Given the description of an element on the screen output the (x, y) to click on. 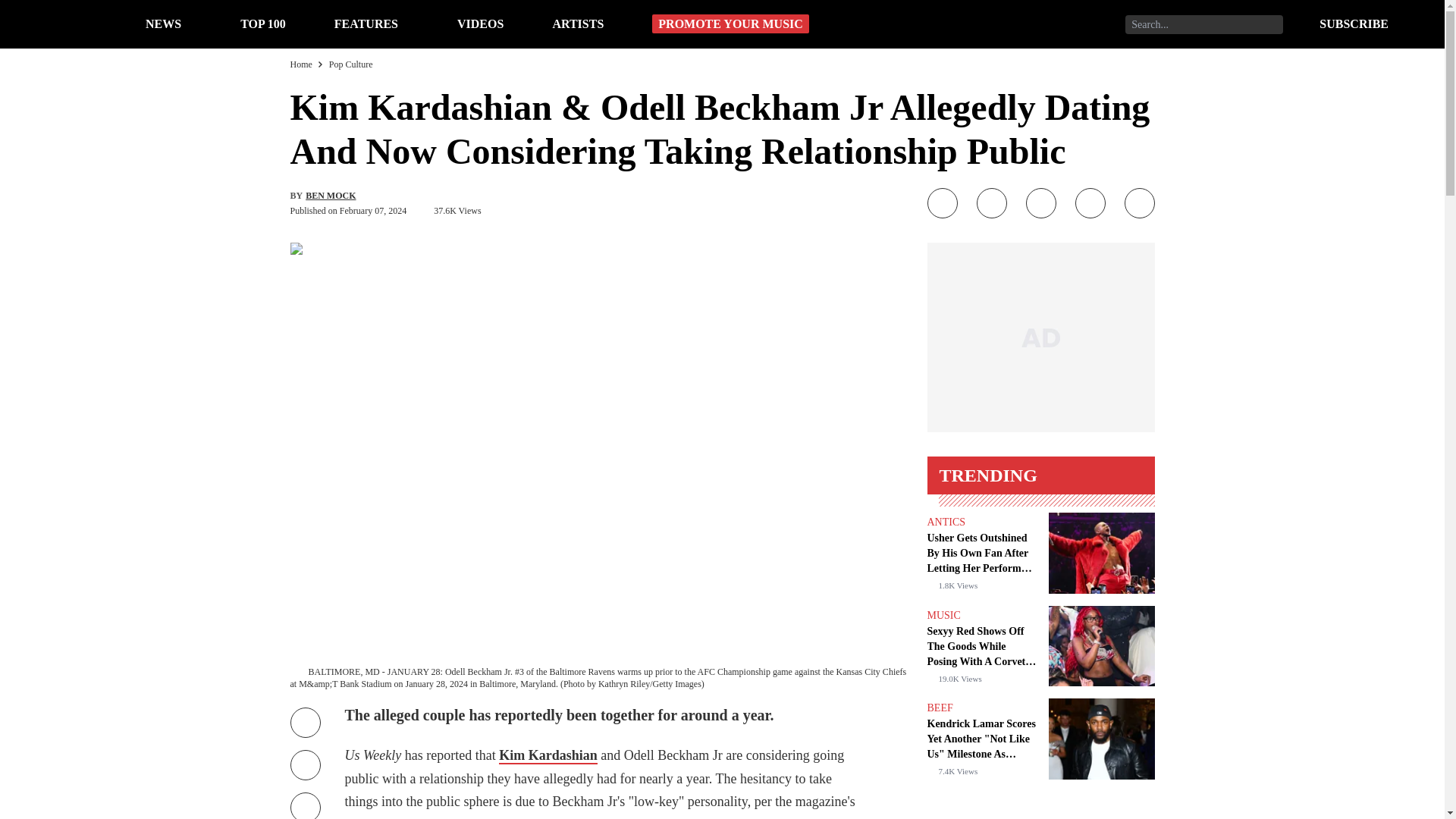
February 07, 2024 (372, 210)
Pop Culture (350, 63)
MUSIC (942, 614)
BEN MOCK (330, 195)
Home (300, 63)
ANTICS (945, 521)
Kim Kardashian (547, 755)
